Given the description of an element on the screen output the (x, y) to click on. 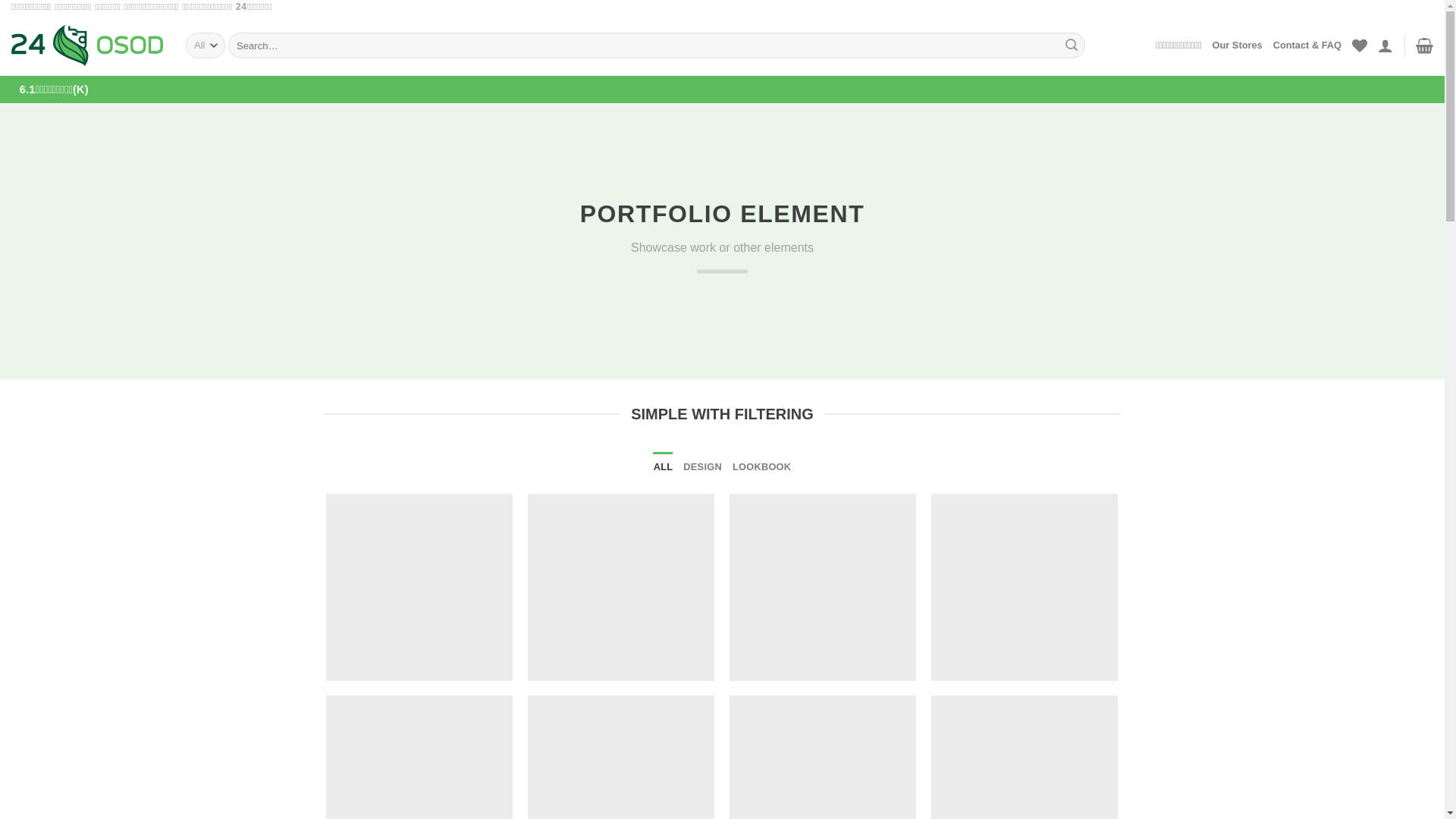
LOOKBOOK Element type: text (761, 466)
Our Stores Element type: text (1237, 45)
Contact & FAQ Element type: text (1307, 45)
ALL Element type: text (663, 466)
Cart Element type: hover (1424, 45)
DESIGN Element type: text (702, 466)
